Given the description of an element on the screen output the (x, y) to click on. 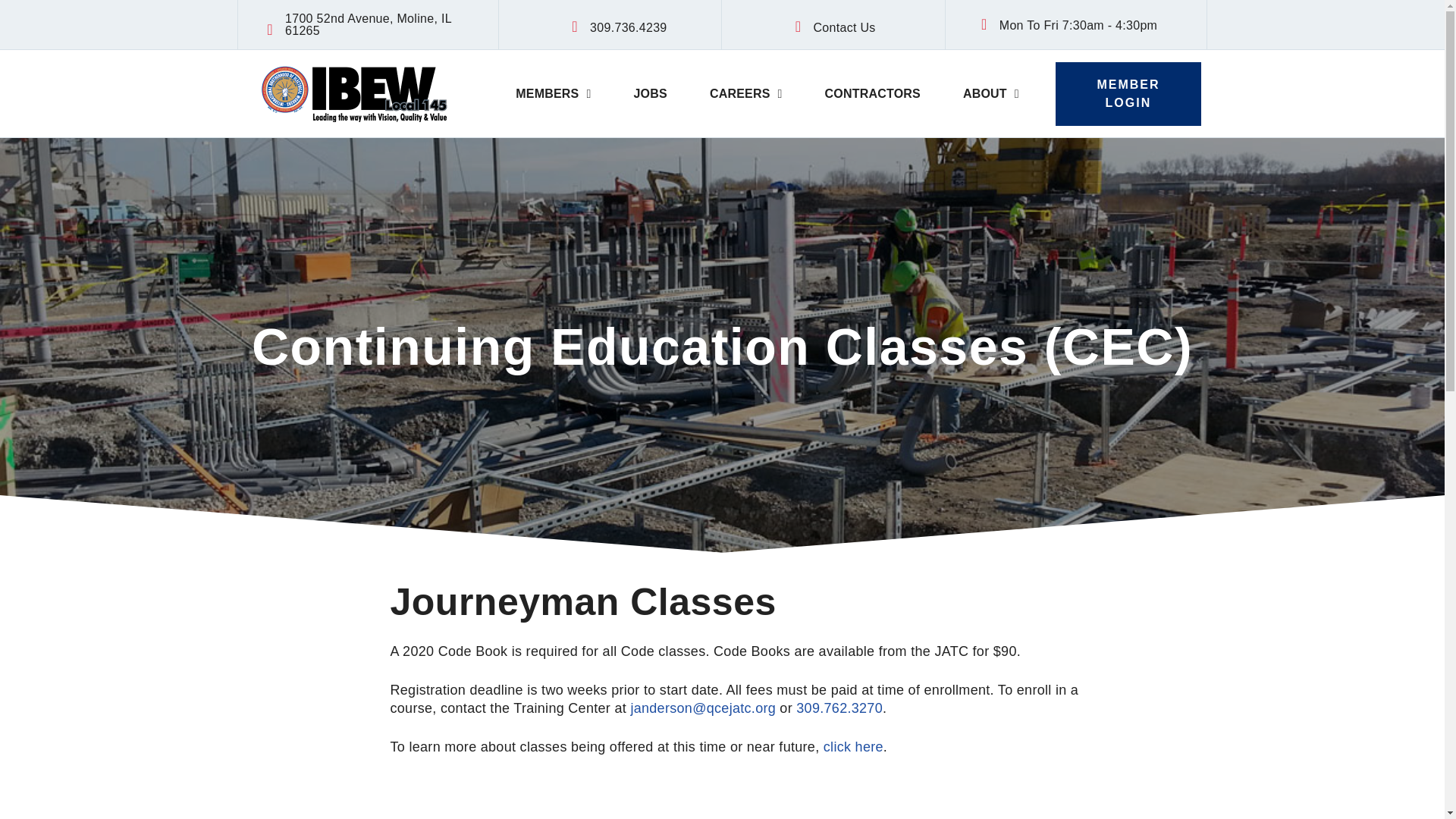
309.736.4239 (627, 27)
NewIBEW145-Logo (353, 93)
CAREERS (745, 93)
MEMBERS (553, 93)
ABOUT (991, 93)
CONTRACTORS (872, 93)
JOBS (650, 93)
Contact Us (843, 27)
1700 52nd Avenue, Moline, IL 61265 (368, 24)
